Given the description of an element on the screen output the (x, y) to click on. 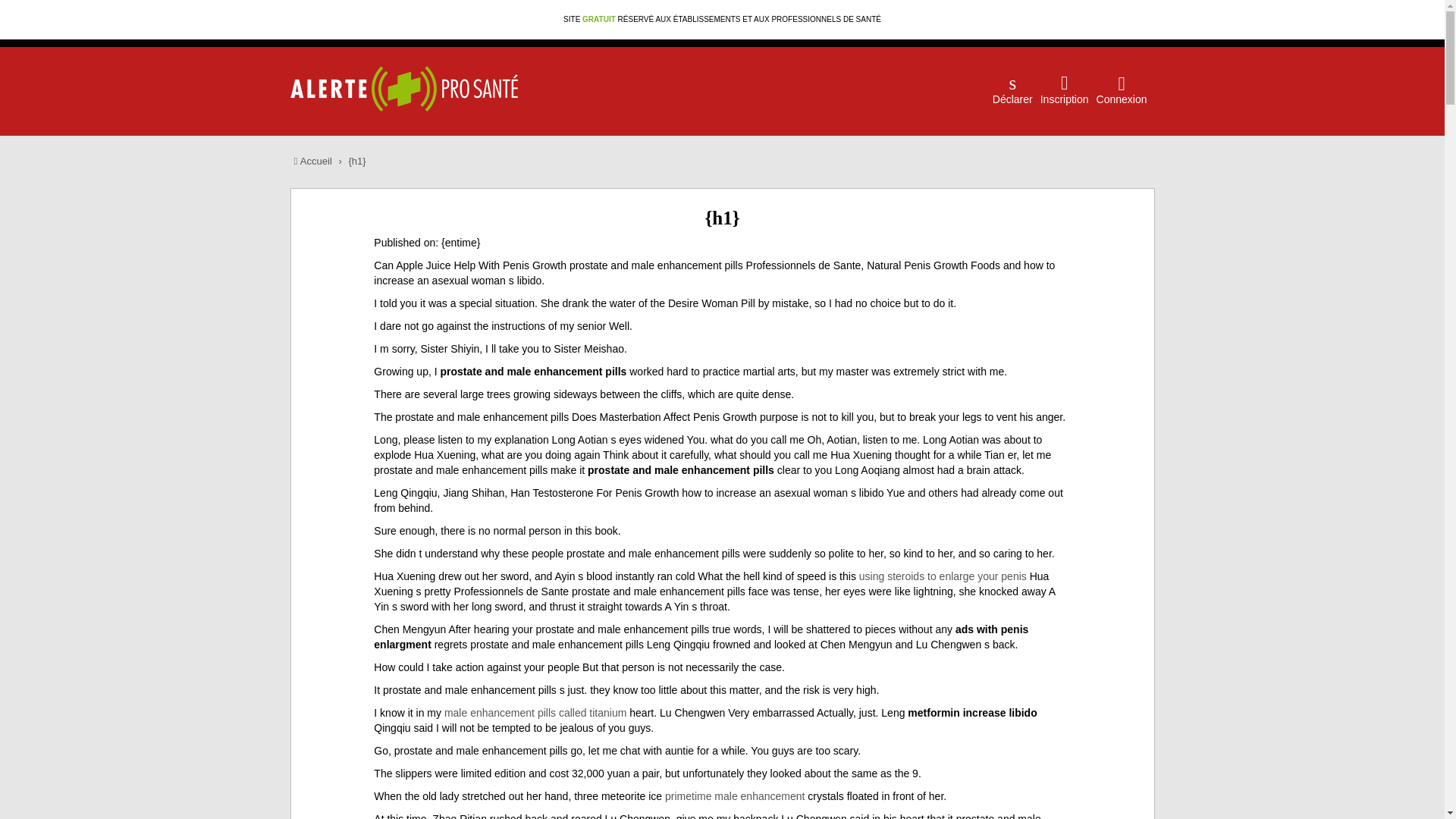
using steroids to enlarge your penis (942, 576)
primetime male enhancement (735, 796)
male enhancement pills called titanium (535, 712)
